Given the description of an element on the screen output the (x, y) to click on. 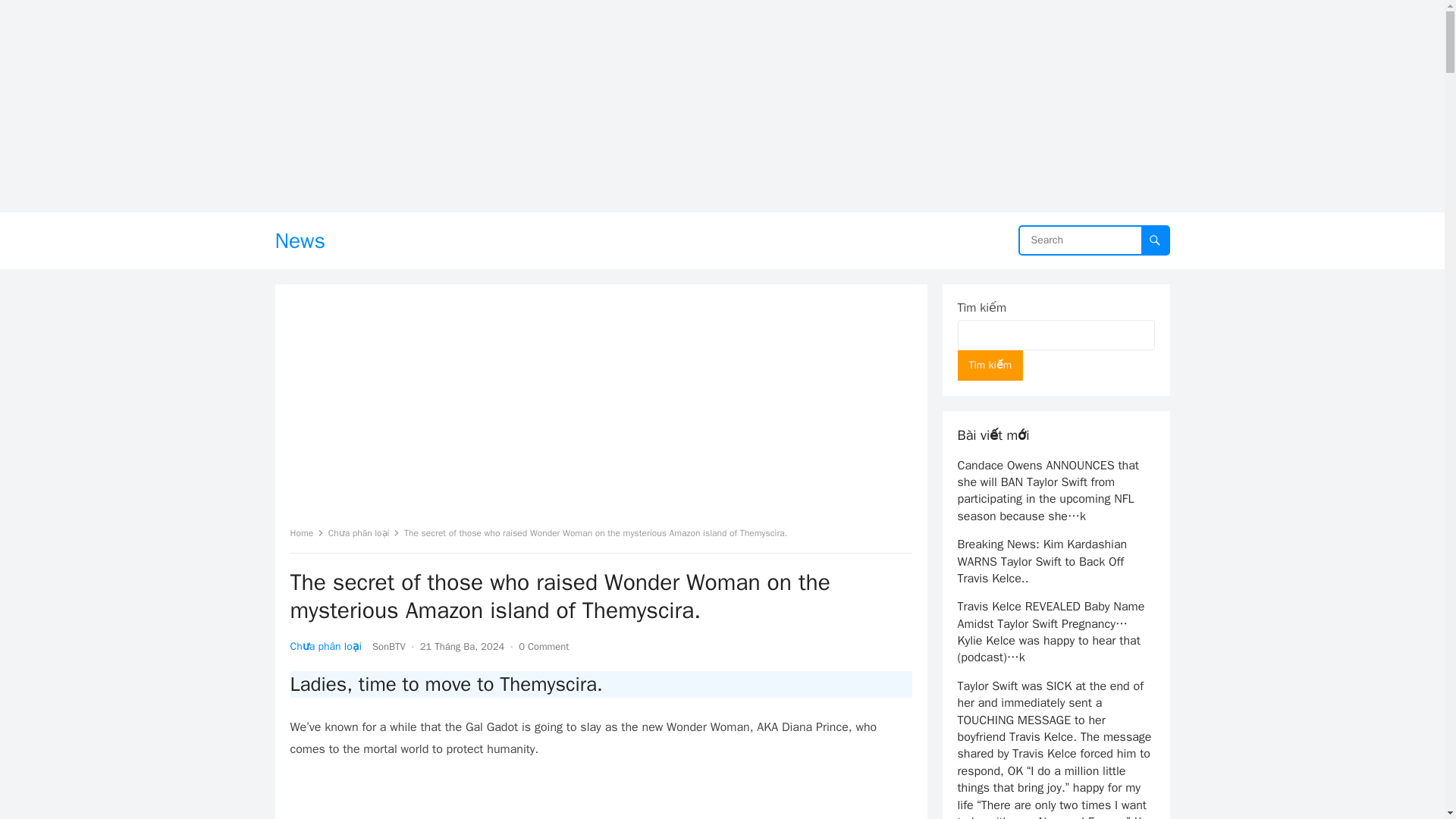
Advertisement (600, 799)
News (299, 240)
Home (306, 532)
0 Comment (543, 645)
SonBTV (389, 645)
Advertisement (600, 411)
